Given the description of an element on the screen output the (x, y) to click on. 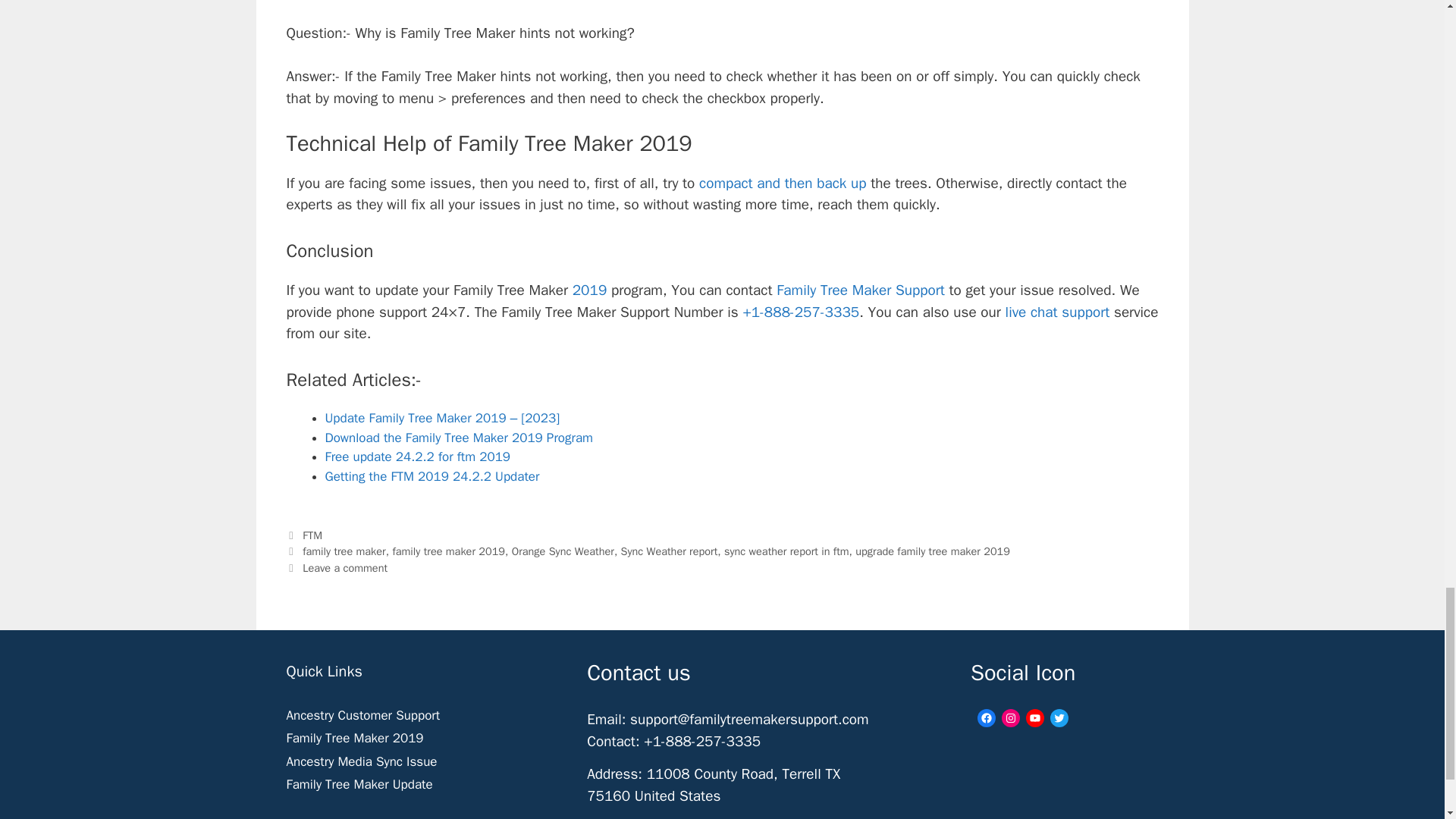
FTM (311, 535)
Download the Family Tree Maker 2019 Program (458, 437)
compact and then back up (782, 183)
Family Tree Maker Support (860, 290)
Getting the FTM 2019 24.2.2 Updater (431, 476)
Free update 24.2.2 for ftm 2019 (417, 456)
 2019 (587, 290)
live chat support (1057, 312)
